Given the description of an element on the screen output the (x, y) to click on. 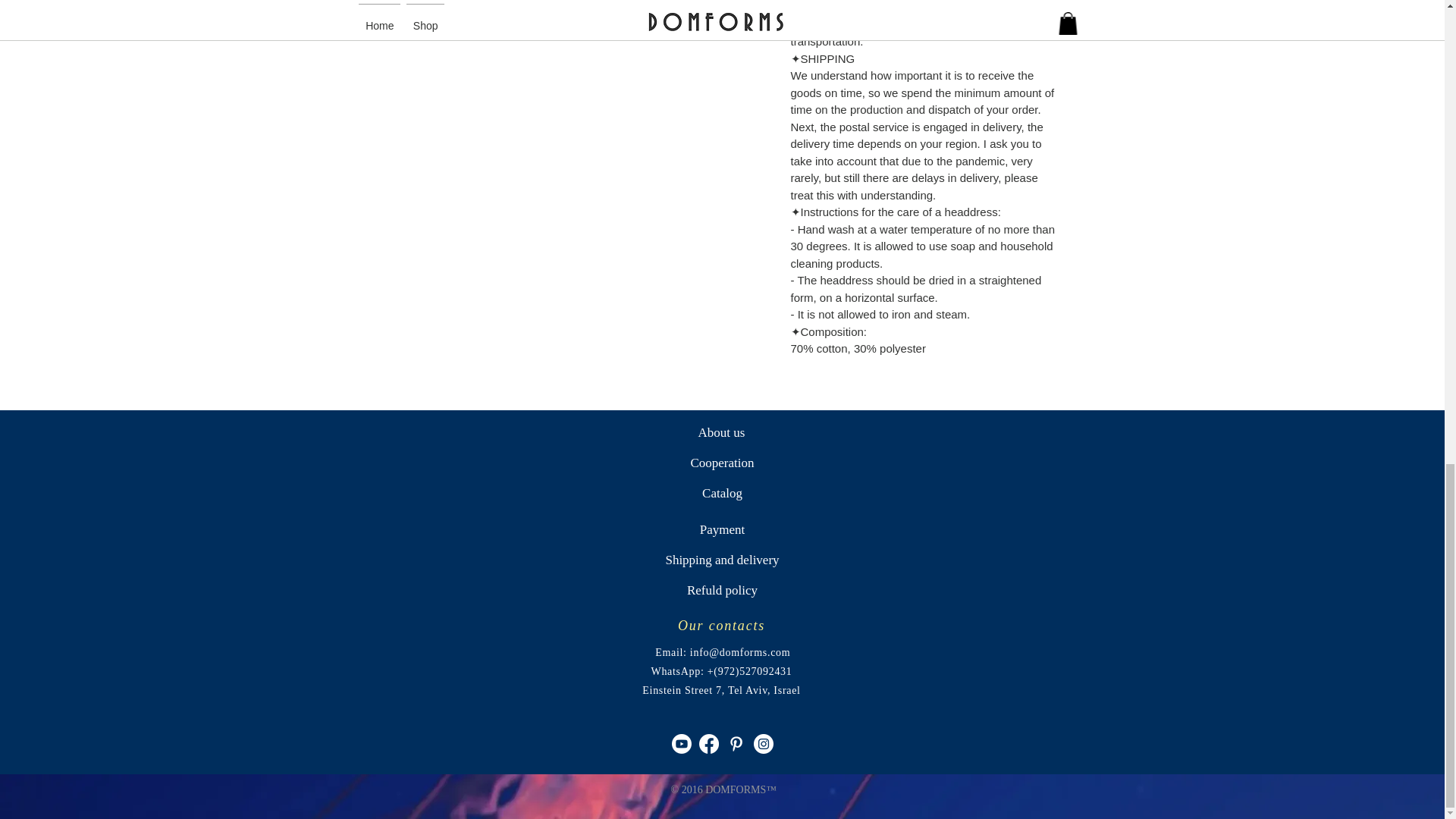
Refuld policy (721, 590)
Payment (721, 530)
About us (720, 432)
Cooperation (722, 462)
Catalog (722, 493)
Shipping and delivery (721, 560)
